Given the description of an element on the screen output the (x, y) to click on. 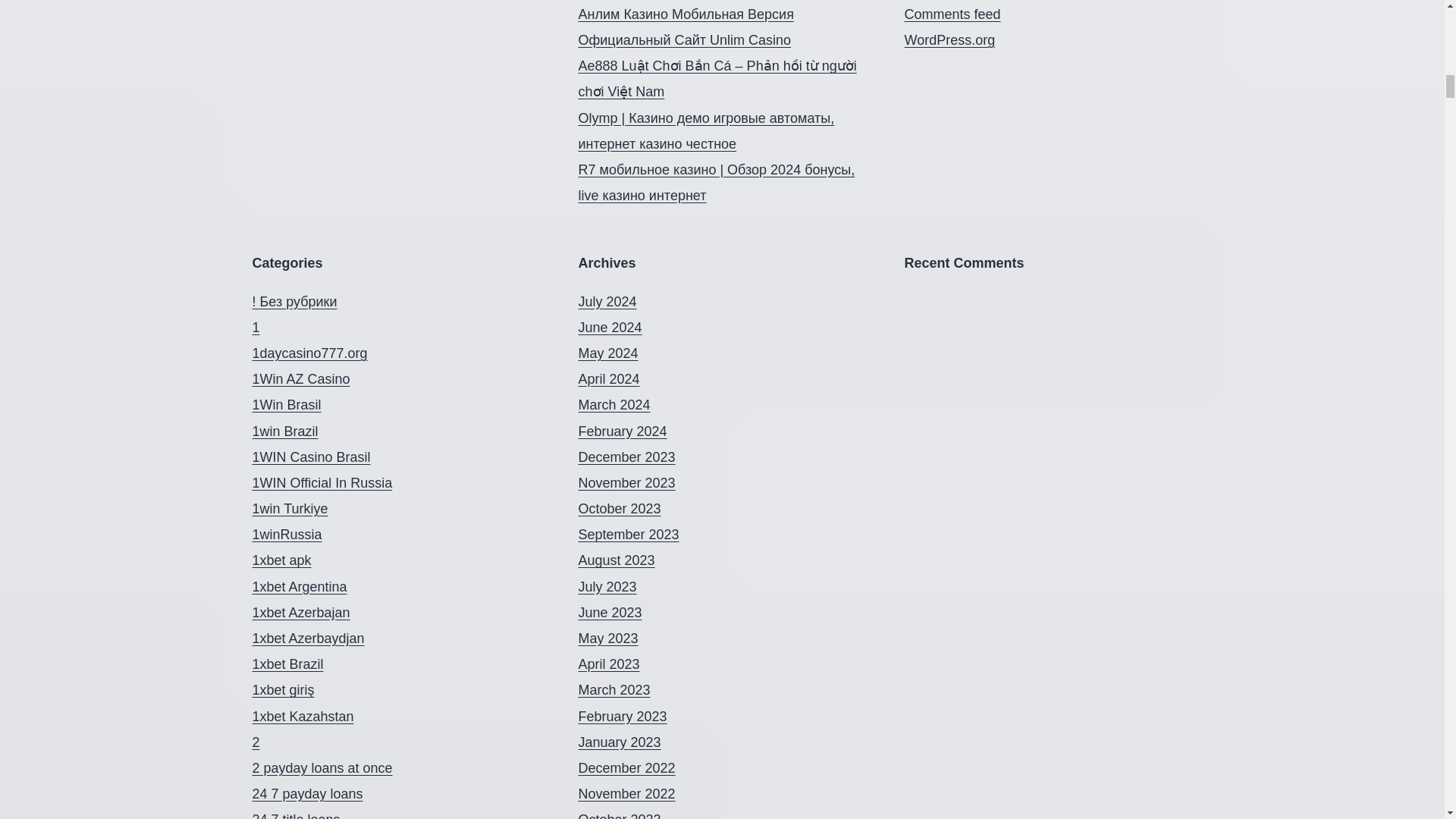
1xbet Kazahstan (302, 716)
1daycasino777.org (308, 353)
Comments feed (952, 14)
2 payday loans at once (321, 767)
1Win Brasil (285, 404)
1xbet Azerbaydjan (307, 638)
1win Turkiye (289, 508)
1xbet apk (281, 560)
1winRussia (286, 534)
1xbet Brazil (287, 663)
1xbet Azerbajan (300, 612)
1WIN Official In Russia (321, 482)
1WIN Casino Brasil (310, 457)
1Win AZ Casino (300, 378)
1xbet Argentina (298, 586)
